Given the description of an element on the screen output the (x, y) to click on. 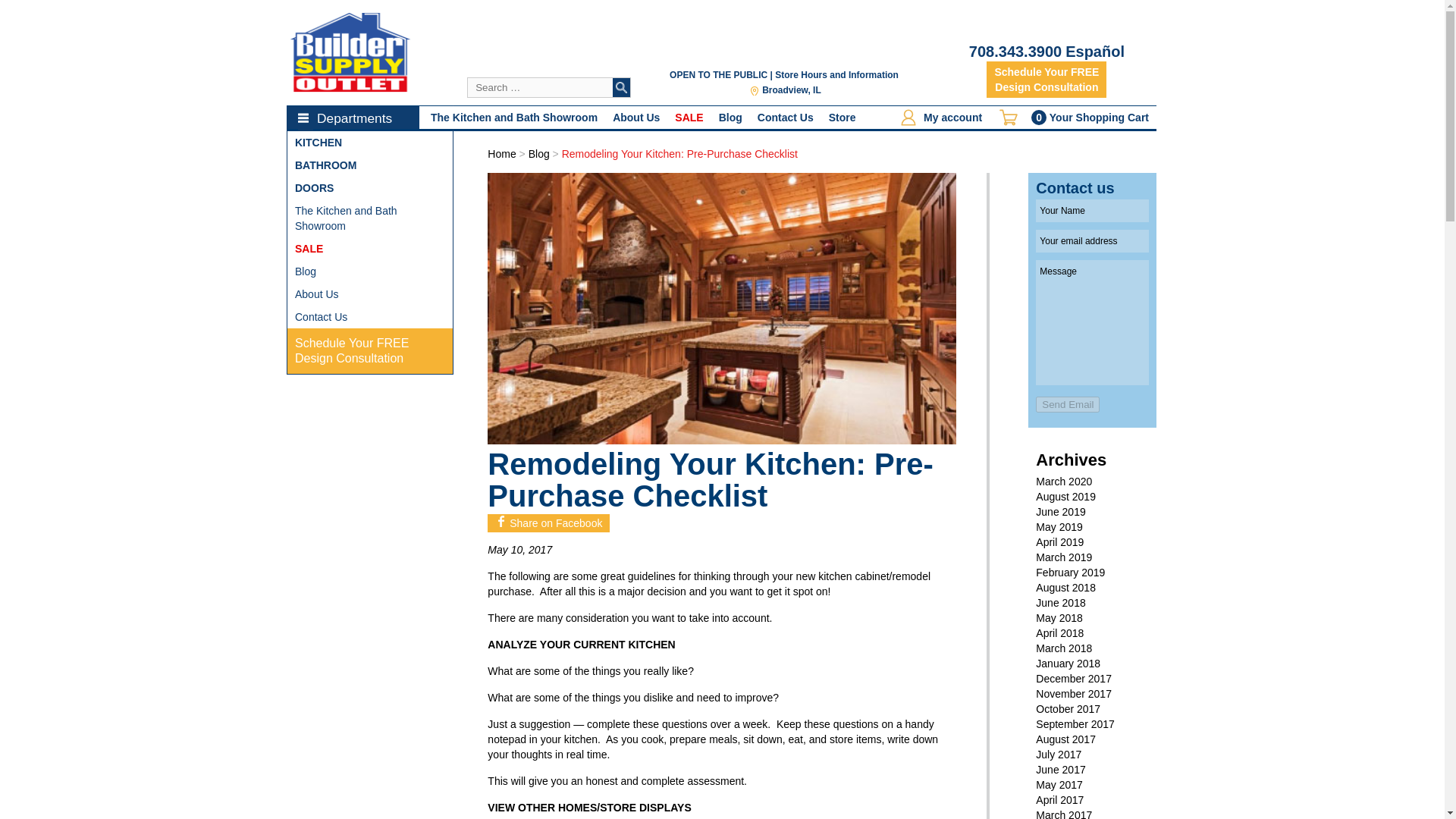
KITCHEN (369, 142)
Contact Us (369, 316)
SALE (689, 117)
Send Email (1046, 79)
DOORS (1067, 404)
Broadview, IL (369, 187)
Blog (786, 90)
Store Hours and Information (730, 117)
About Us (836, 74)
Schedule Your FREE Design Consultation (369, 293)
Blog (369, 350)
SALE (369, 271)
About Us (369, 248)
The Kitchen and Bath Showroom (635, 117)
